Given the description of an element on the screen output the (x, y) to click on. 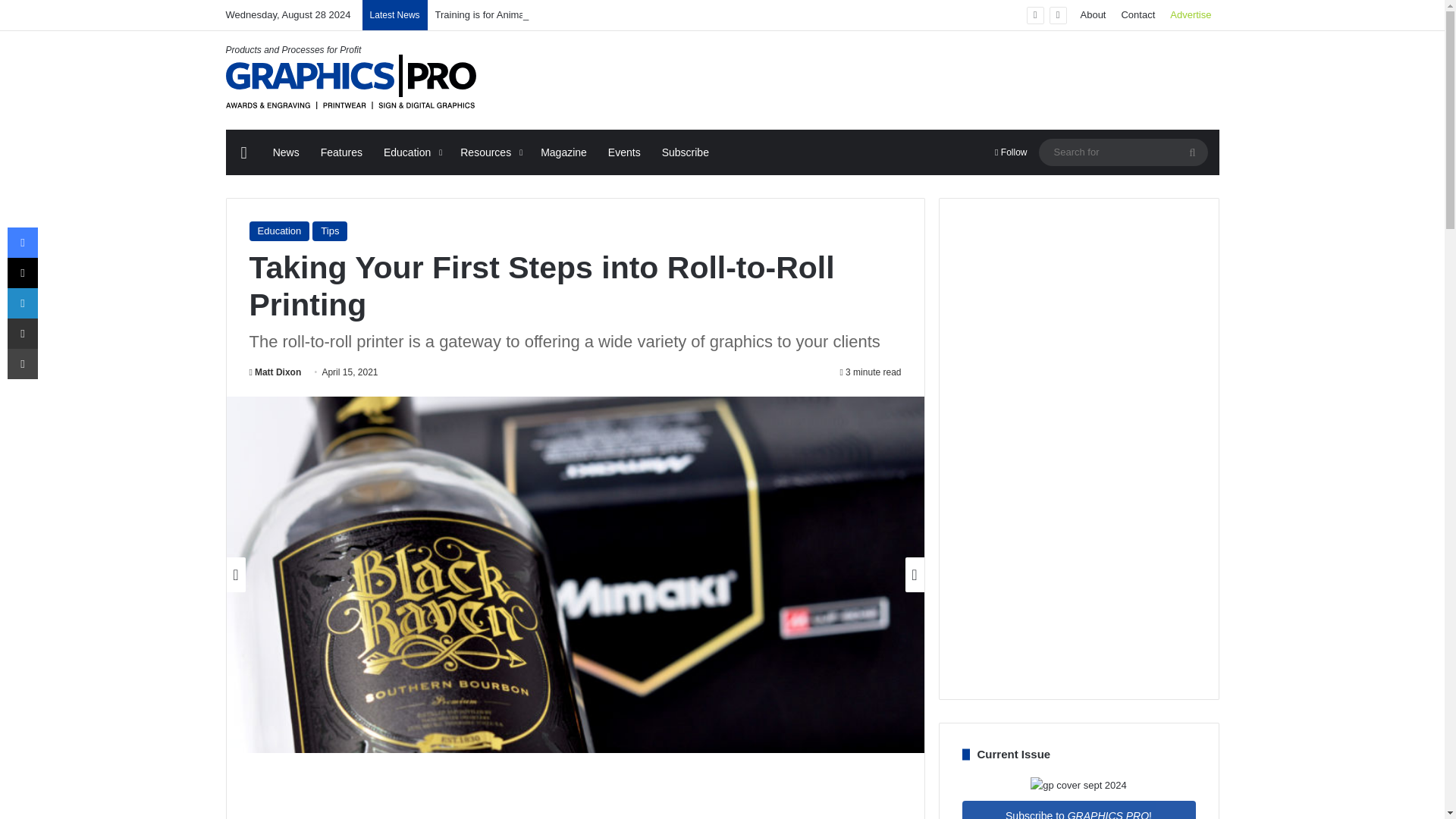
Resources (489, 152)
Matt Dixon (274, 371)
Education (278, 230)
Subscribe (684, 152)
Events (623, 152)
LinkedIn (22, 303)
Search for (1123, 151)
Follow (1011, 152)
Tips (330, 230)
News (286, 152)
